Given the description of an element on the screen output the (x, y) to click on. 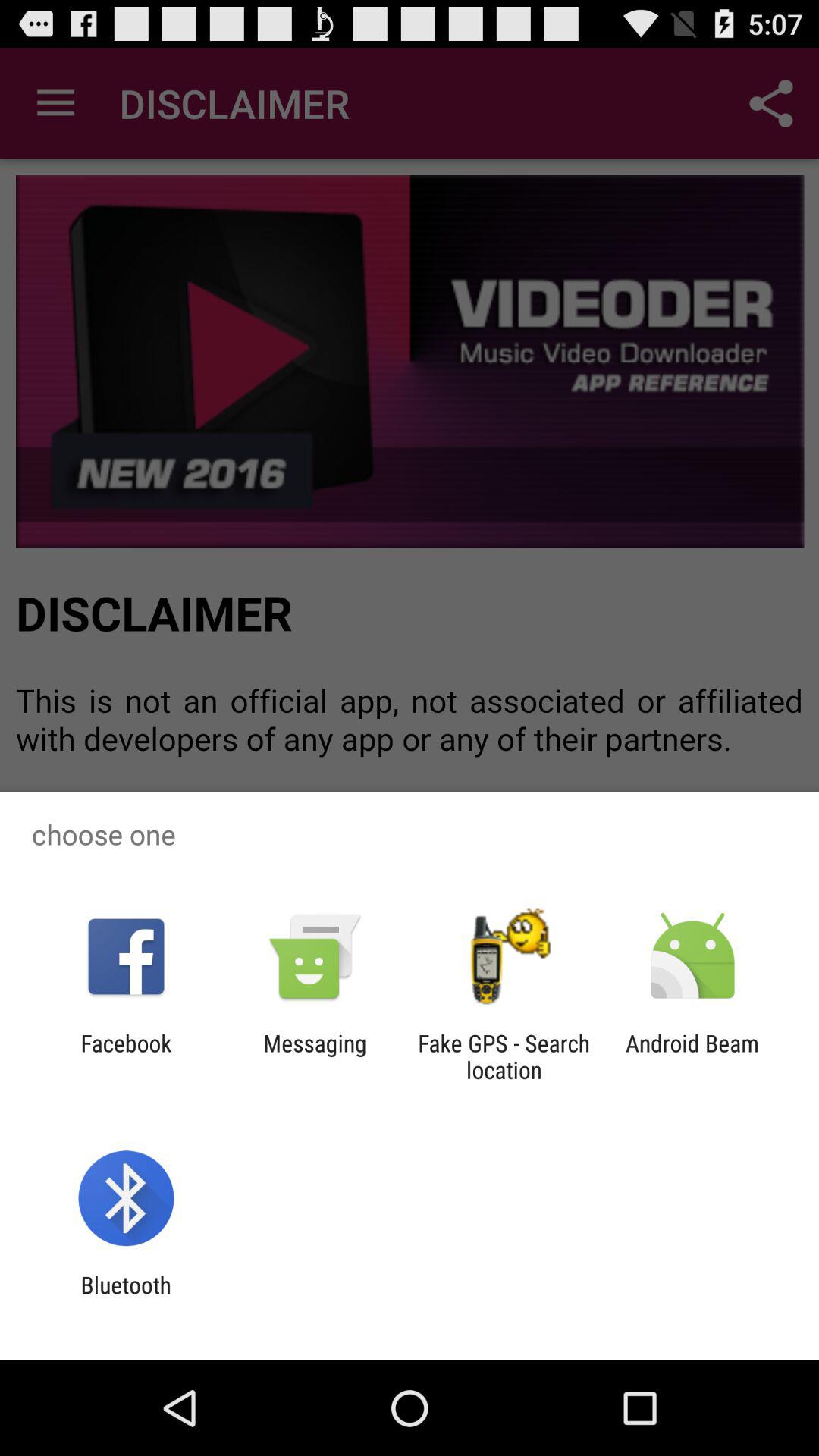
swipe to the messaging item (314, 1056)
